Given the description of an element on the screen output the (x, y) to click on. 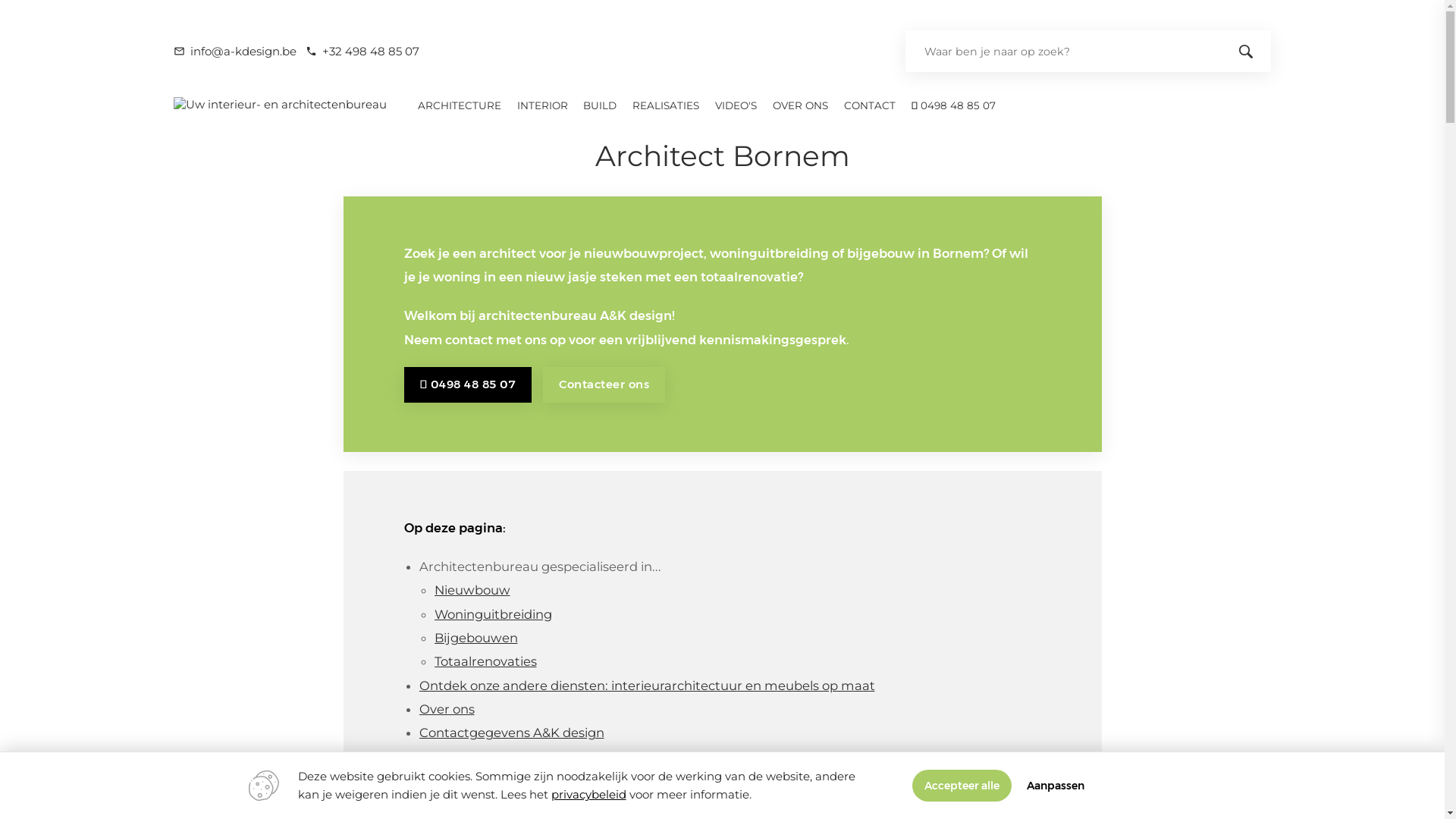
VIDEO'S Element type: text (736, 105)
Nieuwbouw Element type: text (471, 590)
CONTACT Element type: text (870, 105)
Contacteer ons Element type: text (603, 384)
INTERIOR Element type: text (541, 105)
privacybeleid Element type: text (587, 794)
Aanpassen Element type: text (1055, 785)
Accepteer alle Element type: text (960, 785)
mail_outline
info@a-kdesign.be Element type: text (234, 51)
REALISATIES Element type: text (665, 105)
Uw interieur- en architectenbureau Element type: hover (279, 104)
Contactgegevens A&K design Element type: text (510, 732)
Over ons Element type: text (445, 709)
OVER ONS Element type: text (800, 105)
BUILD Element type: text (600, 105)
Bijgebouwen Element type: text (475, 637)
ARCHITECTURE Element type: text (459, 105)
Woninguitbreiding Element type: text (492, 614)
phone
+32 498 48 85 07 Element type: text (362, 51)
Totaalrenovaties Element type: text (484, 661)
